Given the description of an element on the screen output the (x, y) to click on. 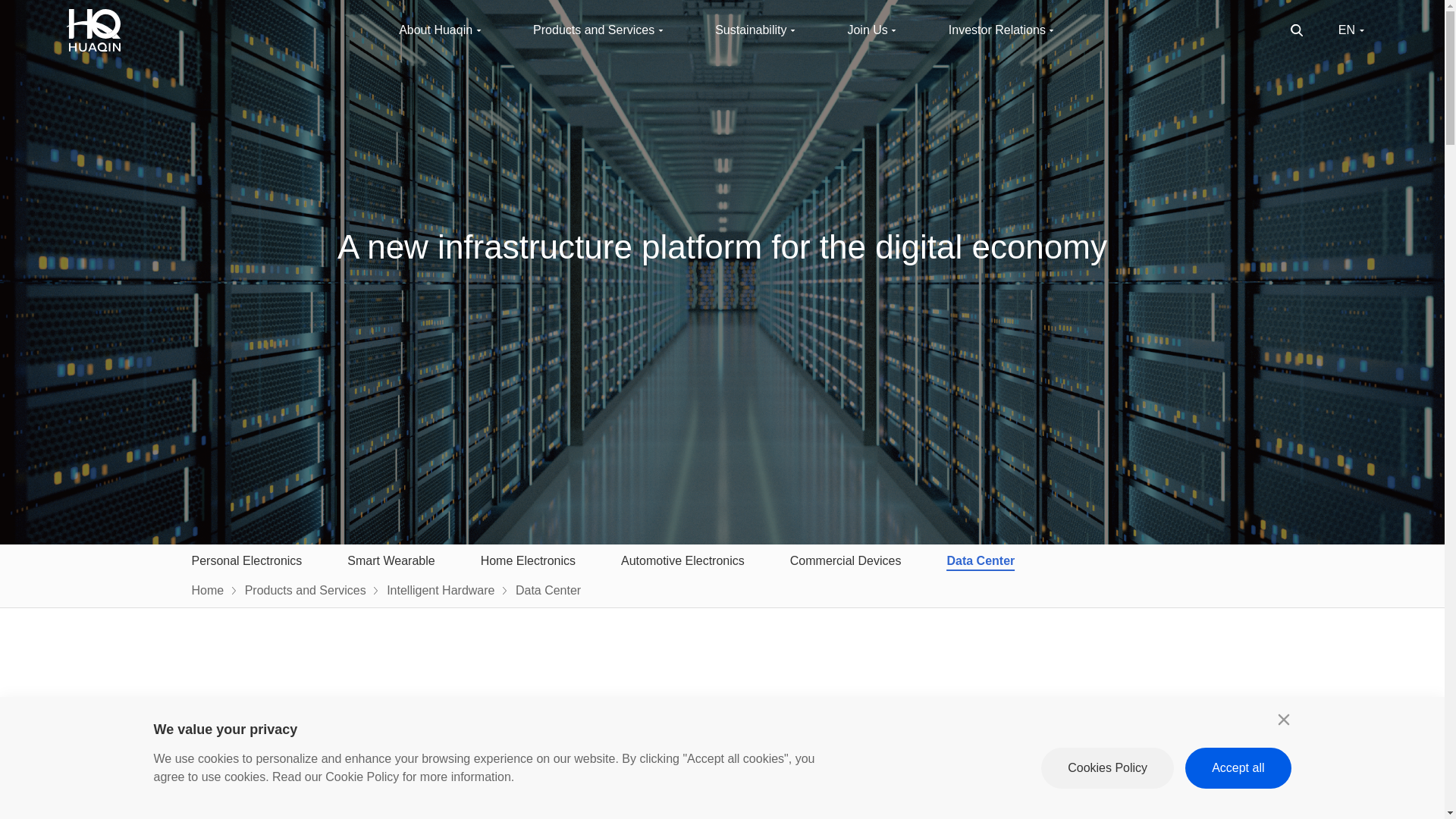
Sustainability (750, 30)
Products and Services (592, 30)
About Huaqin (434, 30)
